Given the description of an element on the screen output the (x, y) to click on. 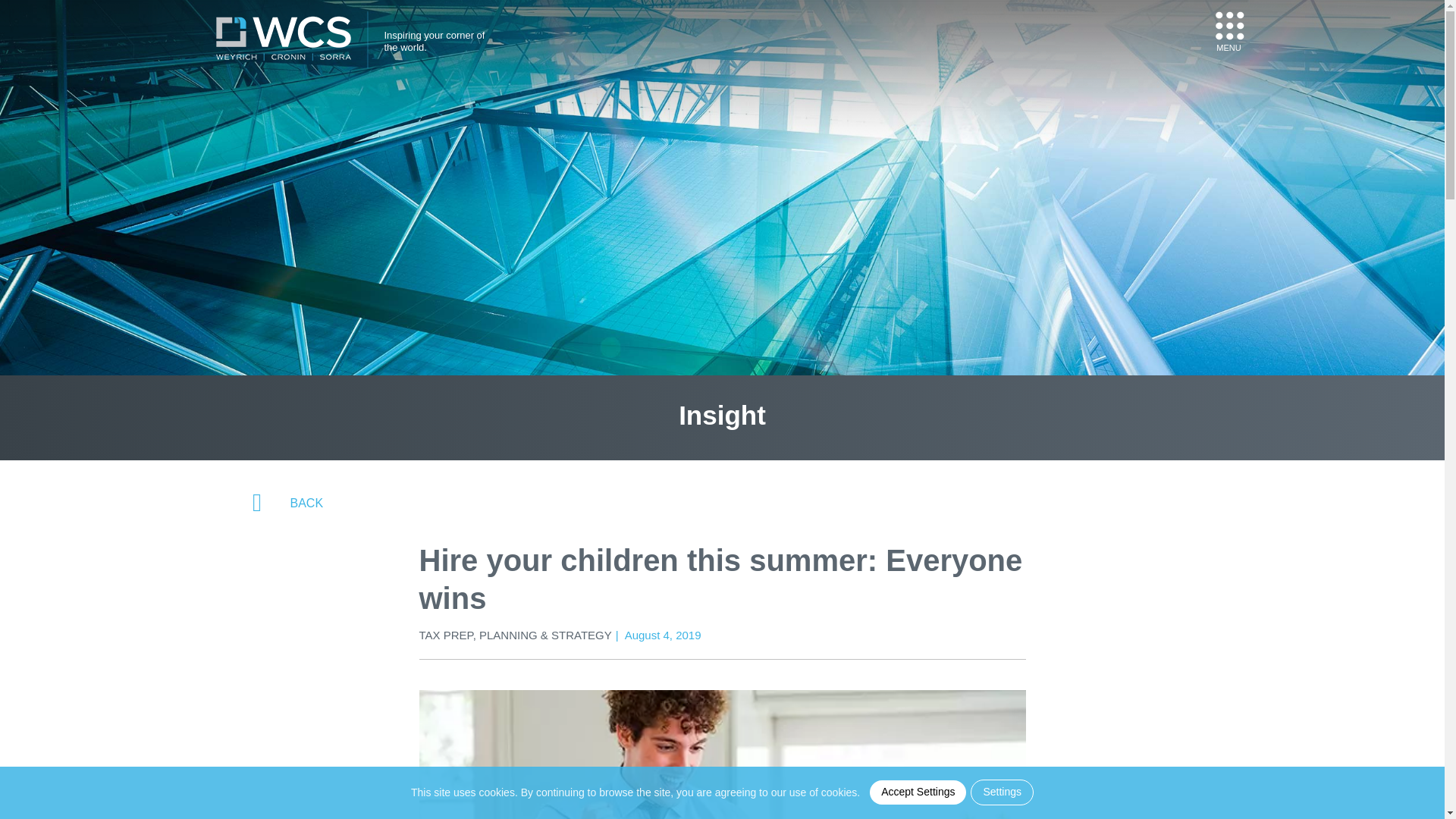
Inspiring your corner of the world. (363, 39)
